Given the description of an element on the screen output the (x, y) to click on. 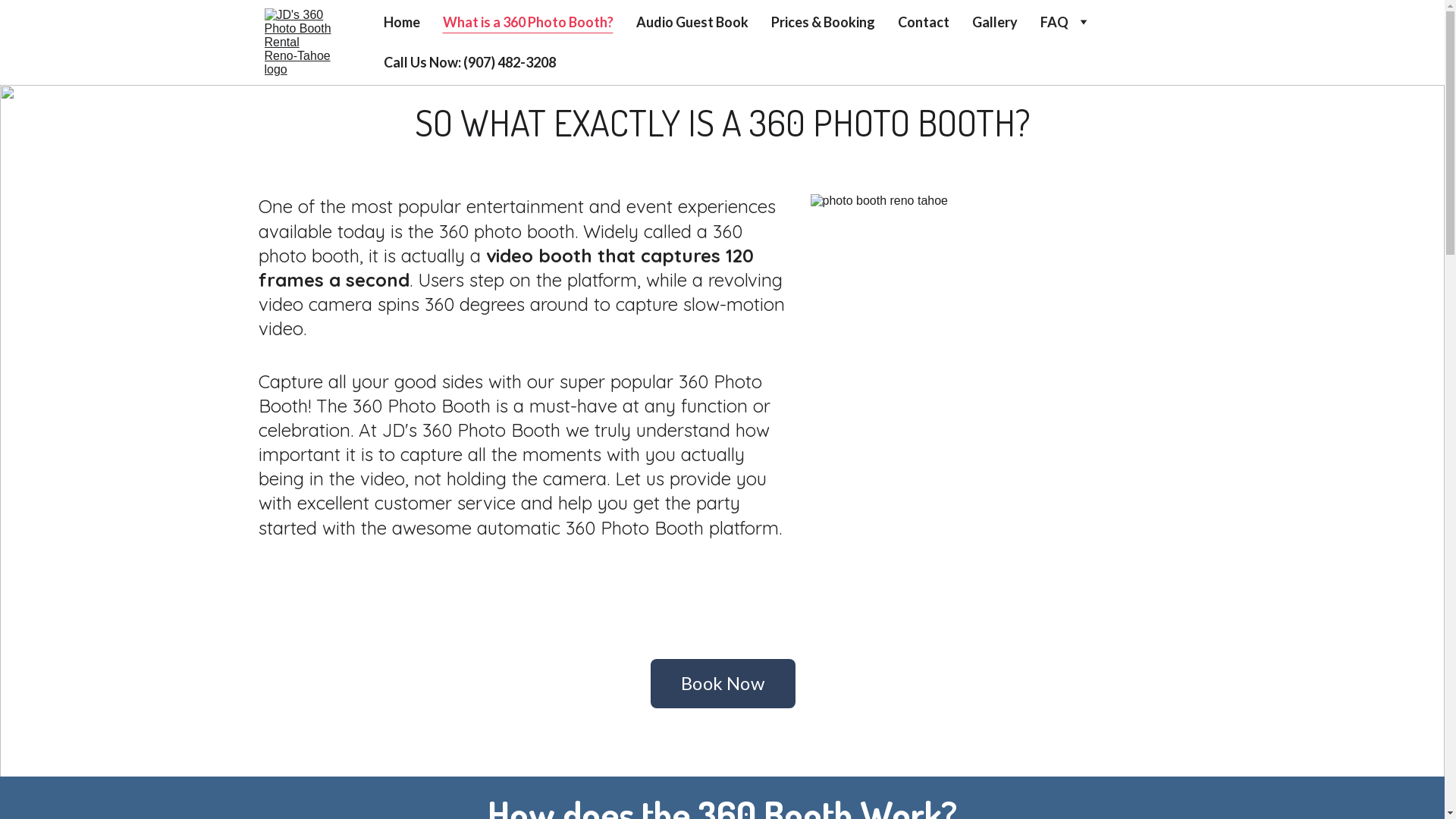
Home Element type: text (401, 22)
Gallery Element type: text (994, 22)
Book Now Element type: text (722, 683)
photo booth reno tahoe Element type: hover (997, 382)
Prices & Booking Element type: text (822, 22)
Audio Guest Book Element type: text (691, 22)
Call Us Now: (907) 482-3208 Element type: text (469, 62)
FAQ Element type: text (1054, 22)
Contact Element type: text (923, 22)
What is a 360 Photo Booth? Element type: text (527, 22)
